Given the description of an element on the screen output the (x, y) to click on. 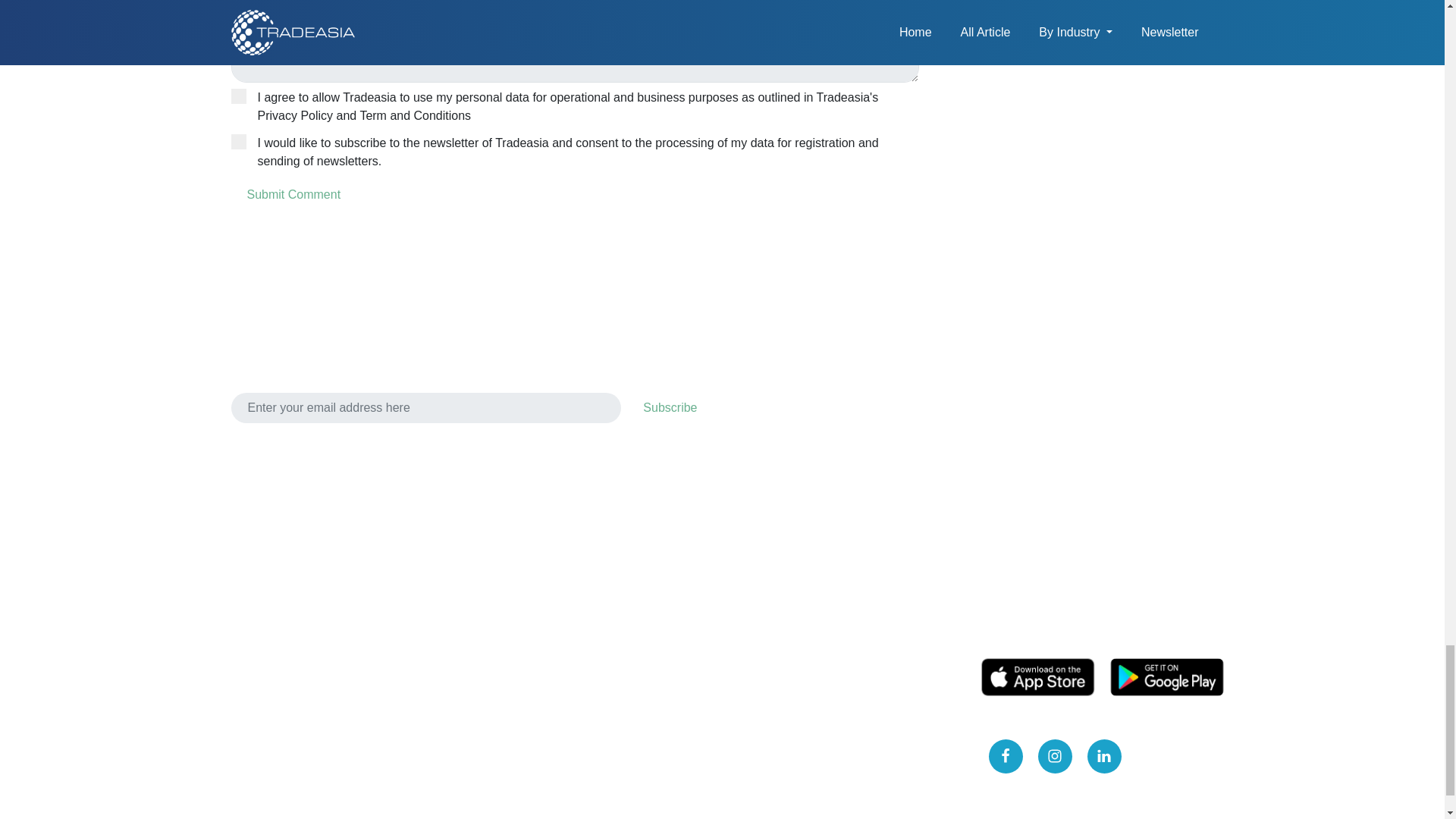
Download Android Apps (1166, 677)
Submit Comment (293, 194)
Download Our IOS App (1037, 677)
Subscribe (670, 408)
